Given the description of an element on the screen output the (x, y) to click on. 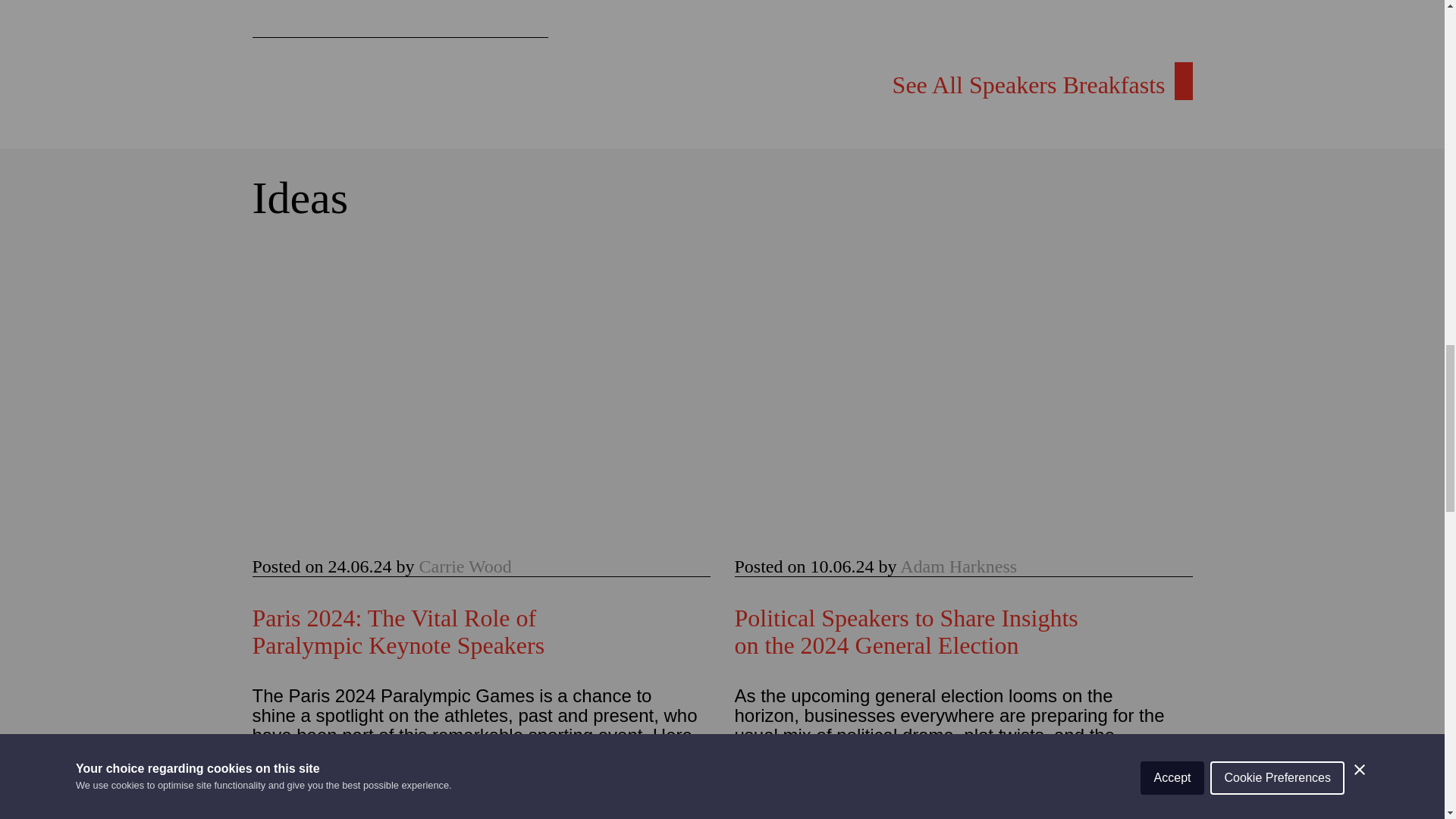
Read full article. (962, 631)
Read full article. (962, 471)
Add to Shortlist (499, 17)
Read full article. (480, 471)
Read full article. (480, 631)
